Given the description of an element on the screen output the (x, y) to click on. 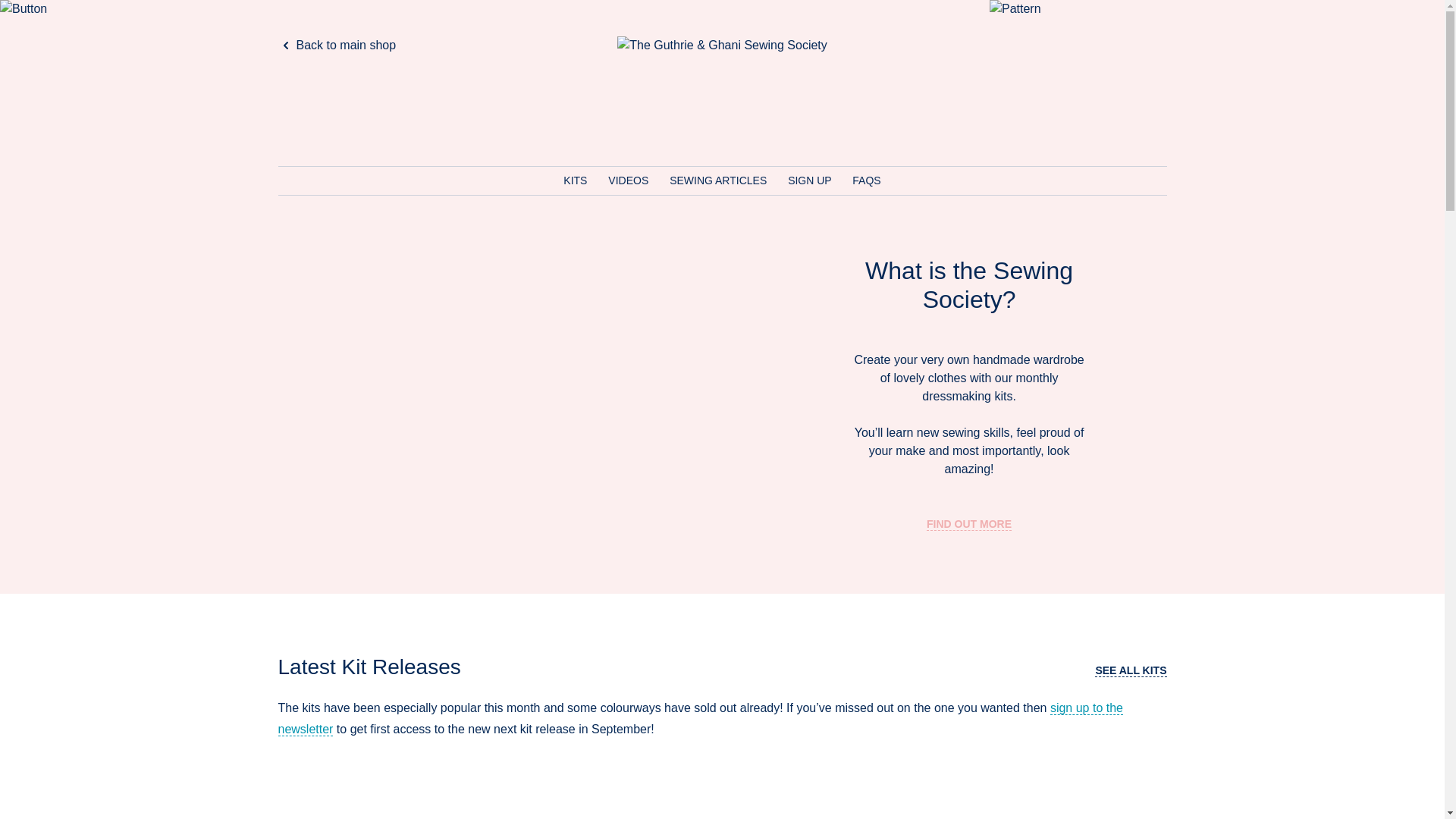
Sewing Articles (719, 180)
KITS (576, 180)
VIDEOS (629, 180)
FAQs (865, 180)
sign up to the newsletter (700, 718)
SIGN UP (810, 180)
Sign Up (810, 180)
FIND OUT MORE (968, 523)
Videos (629, 180)
SEWING ARTICLES (719, 180)
